Given the description of an element on the screen output the (x, y) to click on. 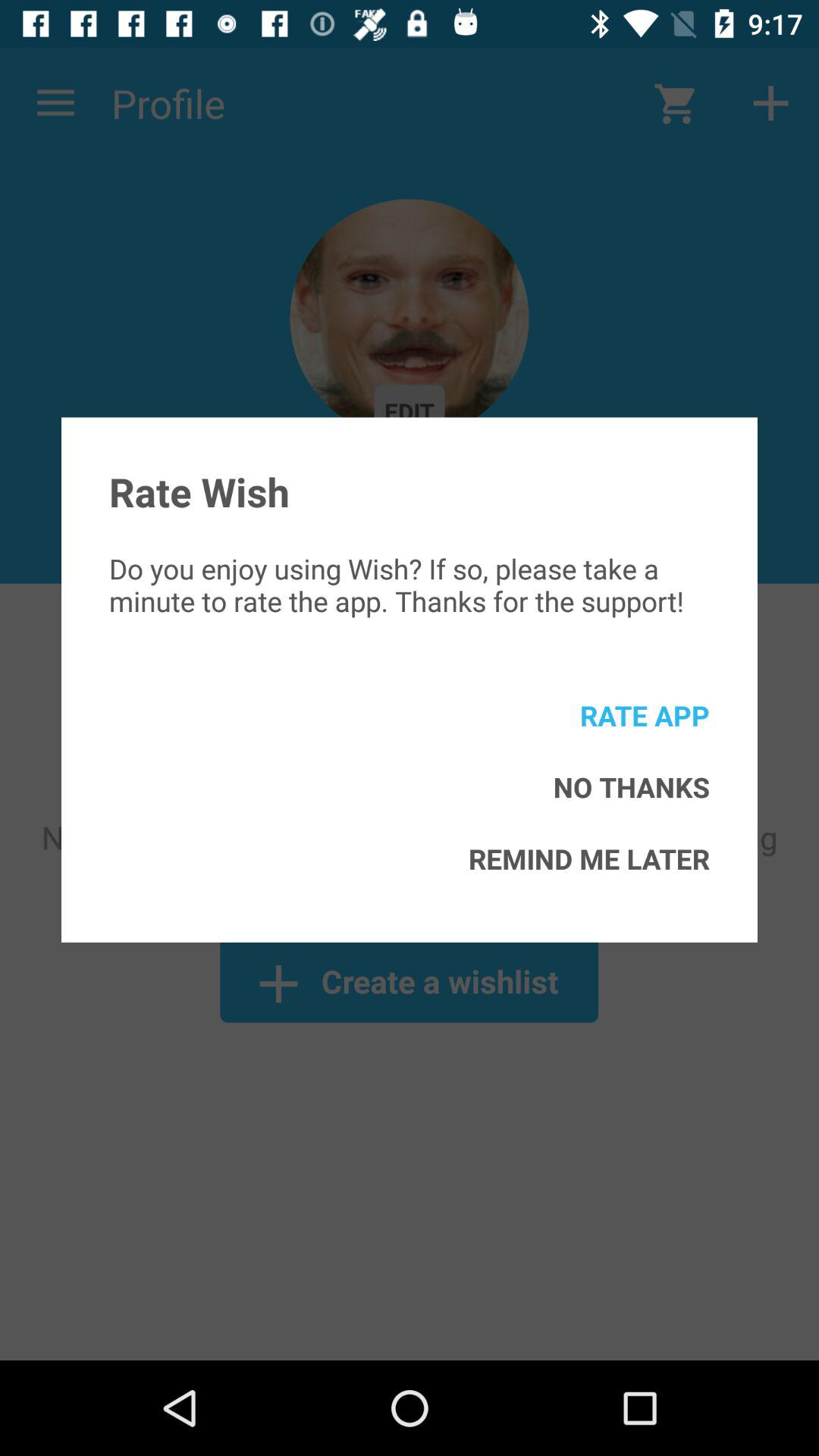
press remind me later (588, 858)
